Given the description of an element on the screen output the (x, y) to click on. 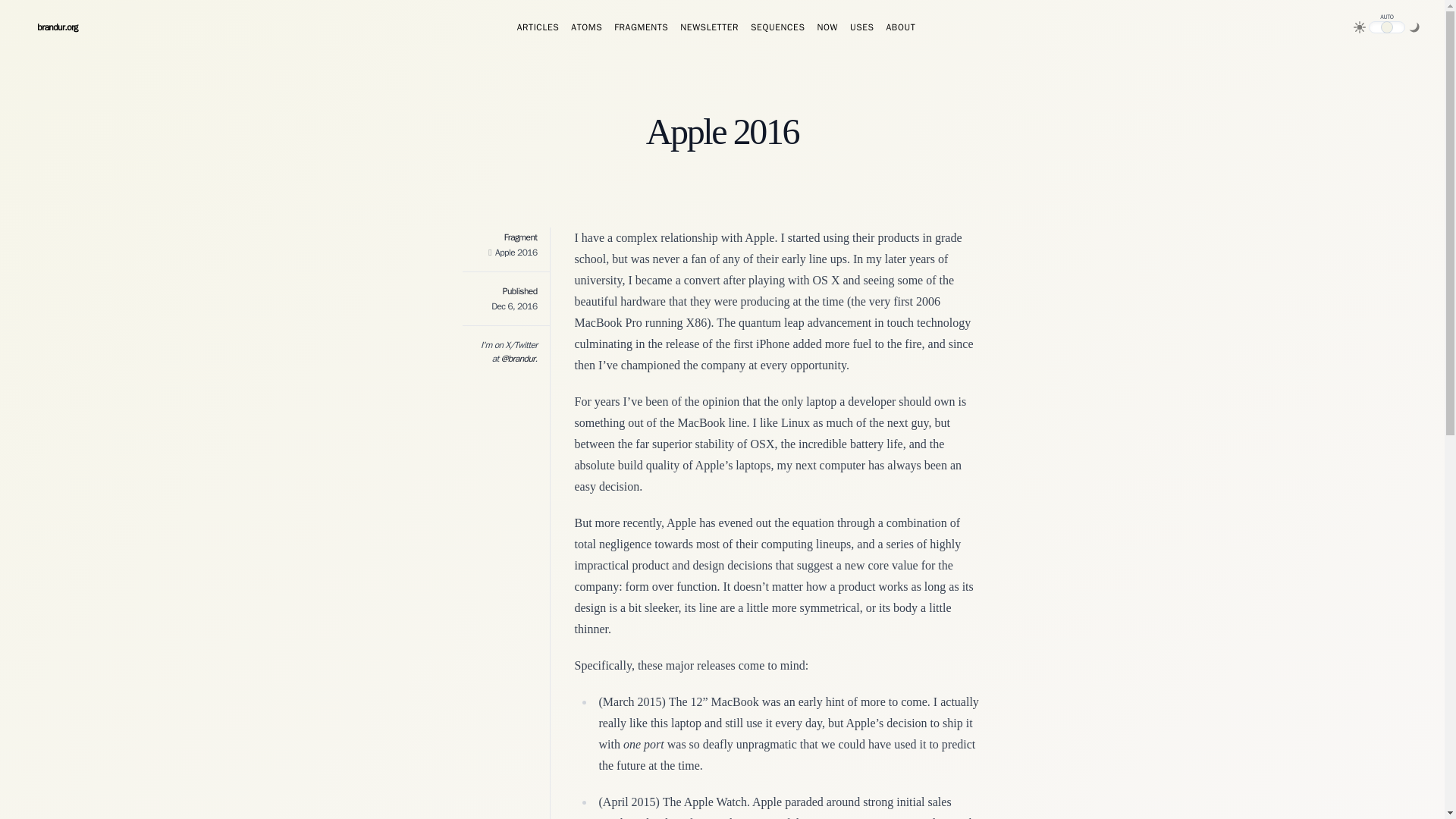
FRAGMENTS (641, 30)
USES (862, 30)
ABOUT (900, 30)
SEQUENCES (778, 30)
ATOMS (586, 30)
NOW (826, 30)
NEWSLETTER (708, 30)
ARTICLES (537, 30)
brandur.org (57, 30)
